Given the description of an element on the screen output the (x, y) to click on. 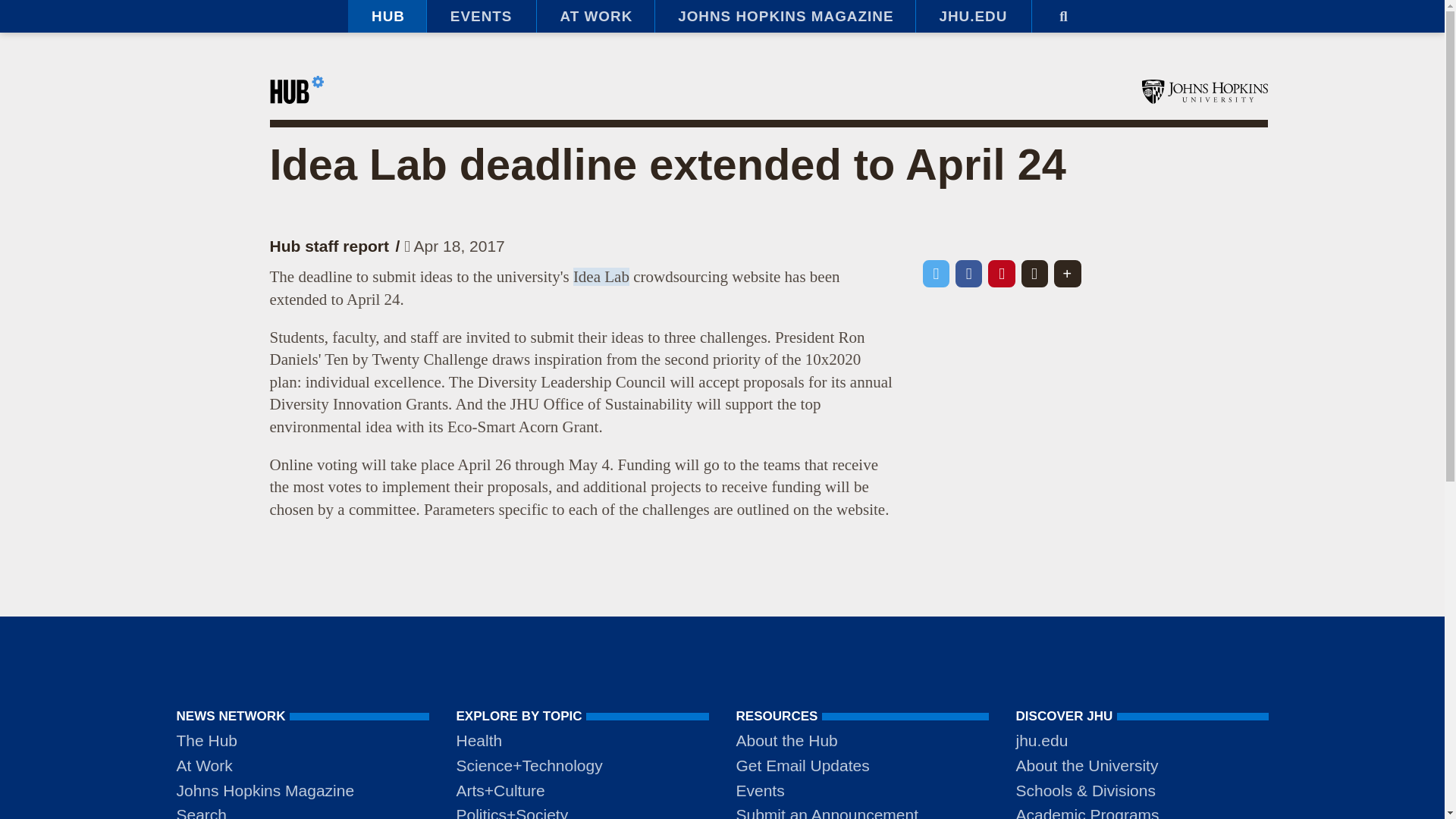
HUB (386, 16)
AT WORK (594, 16)
JHU.EDU (972, 16)
EVENTS (480, 16)
JOHNS HOPKINS MAGAZINE (784, 16)
Johns Hopkins University (1204, 91)
